Given the description of an element on the screen output the (x, y) to click on. 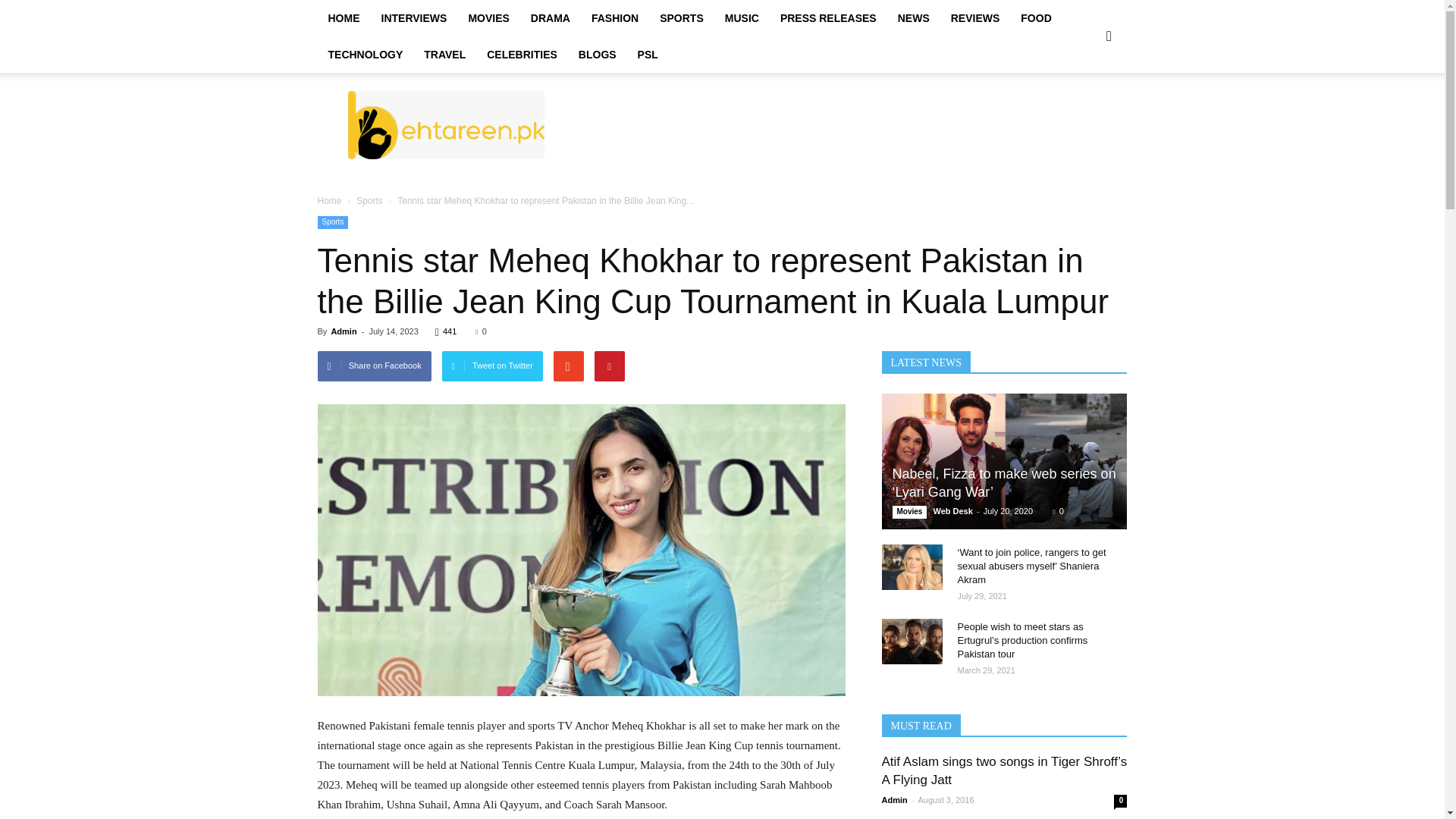
View all posts in Sports (369, 200)
HOME (343, 18)
MOVIES (488, 18)
NEWS (913, 18)
MUSIC (742, 18)
FASHION (614, 18)
INTERVIEWS (413, 18)
PRESS RELEASES (828, 18)
DRAMA (549, 18)
SPORTS (681, 18)
